Given the description of an element on the screen output the (x, y) to click on. 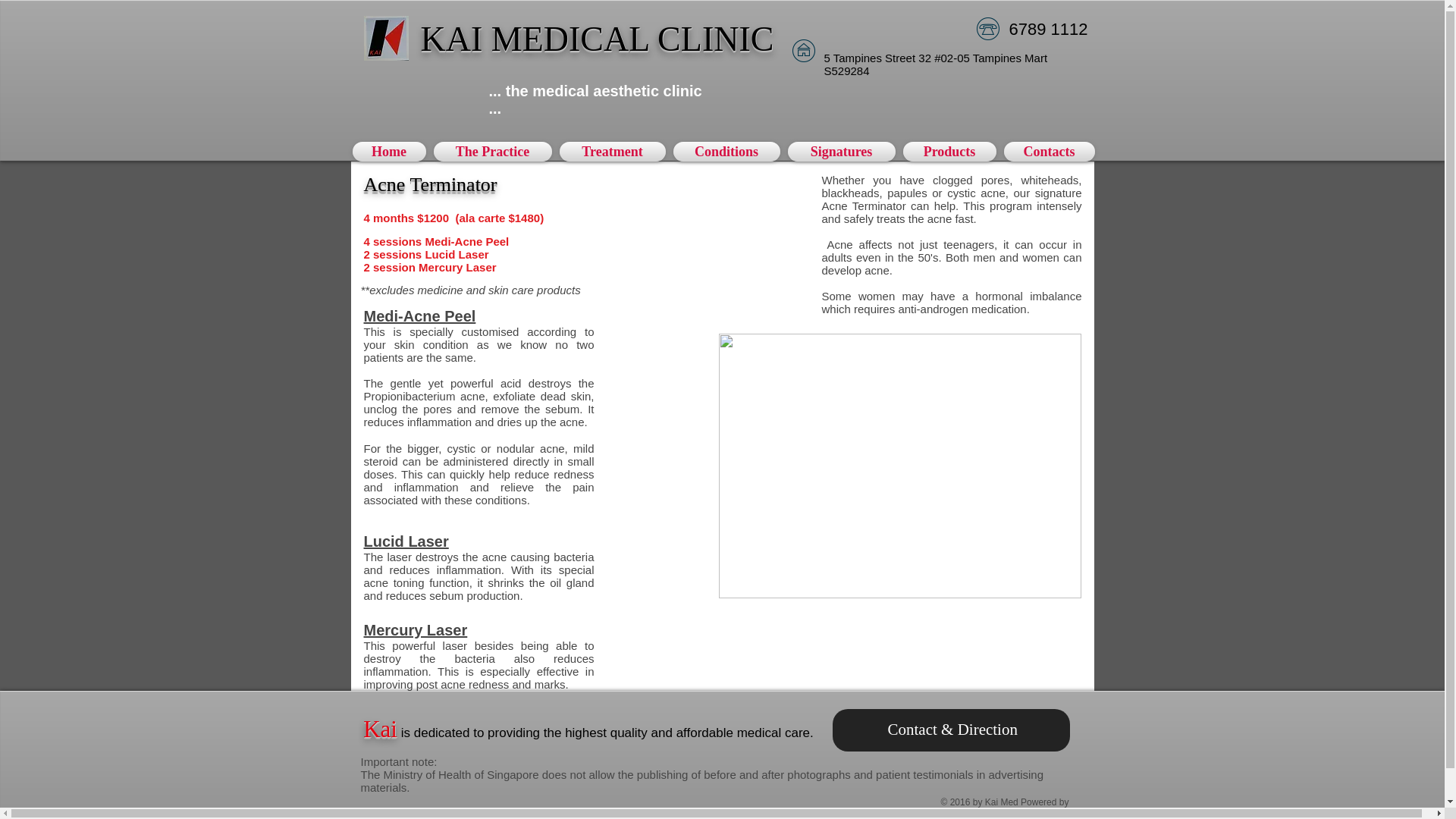
Products (949, 151)
Mercury Laser (415, 629)
KAI MEDICAL CLINIC (597, 38)
Conditions (725, 151)
Signatures (841, 151)
Lucid Laser (406, 541)
Home (390, 151)
The Practice (491, 151)
Contacts (1046, 151)
